Given the description of an element on the screen output the (x, y) to click on. 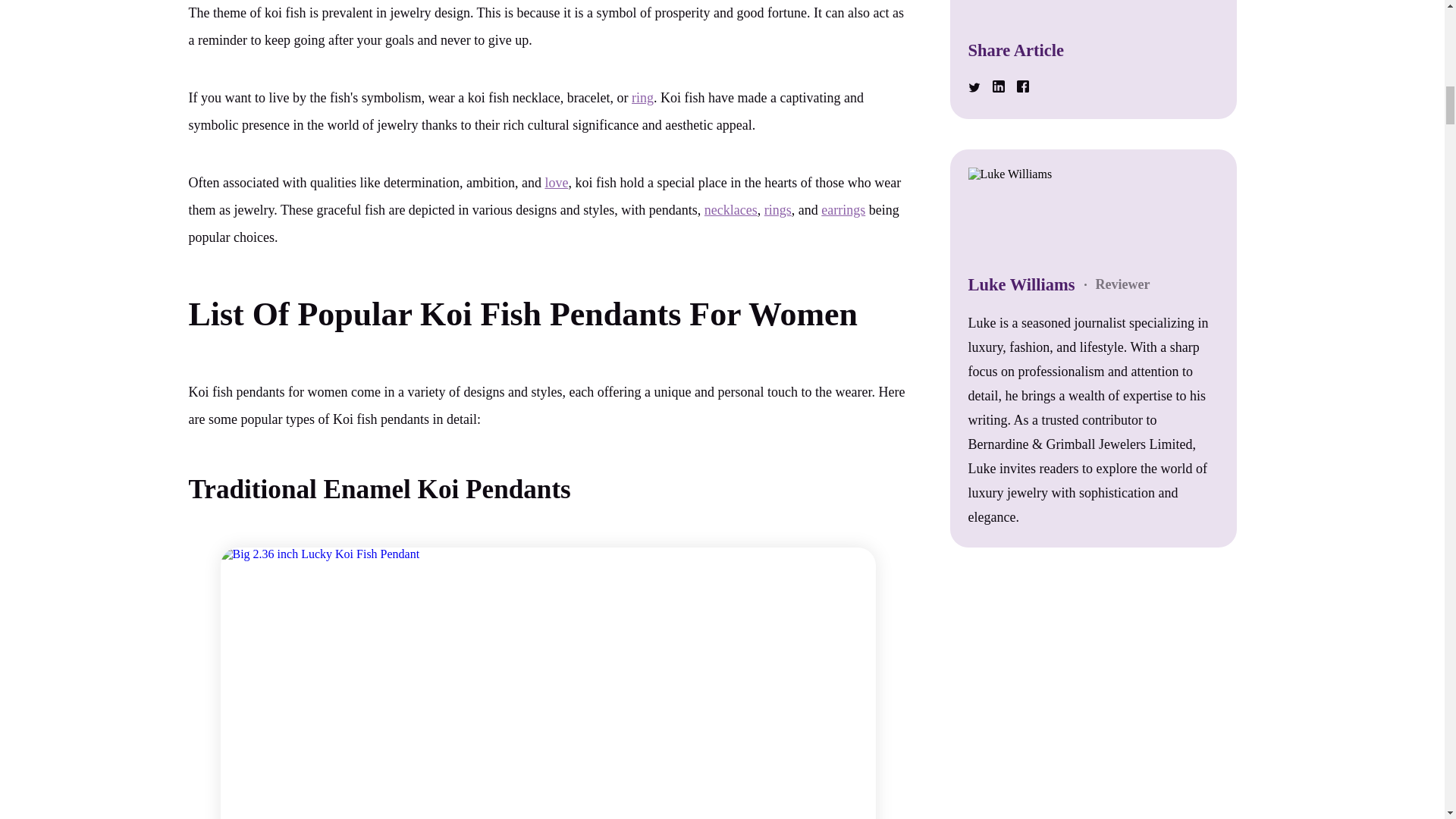
Traditional Enamel Koi Pendants (378, 489)
List Of Popular Koi Fish Pendants For Women (522, 313)
